Given the description of an element on the screen output the (x, y) to click on. 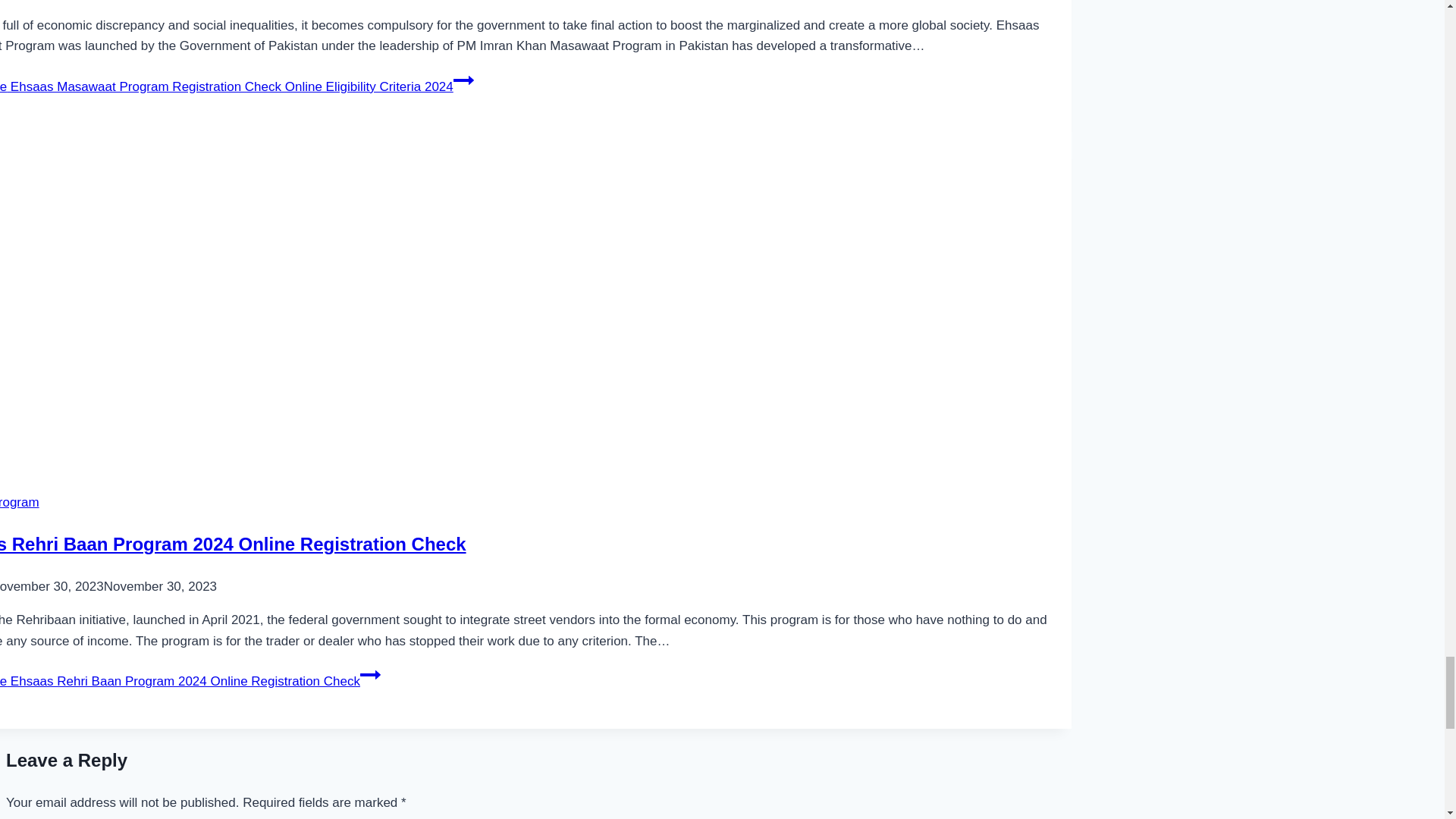
Continue (463, 79)
Continue (369, 674)
